Given the description of an element on the screen output the (x, y) to click on. 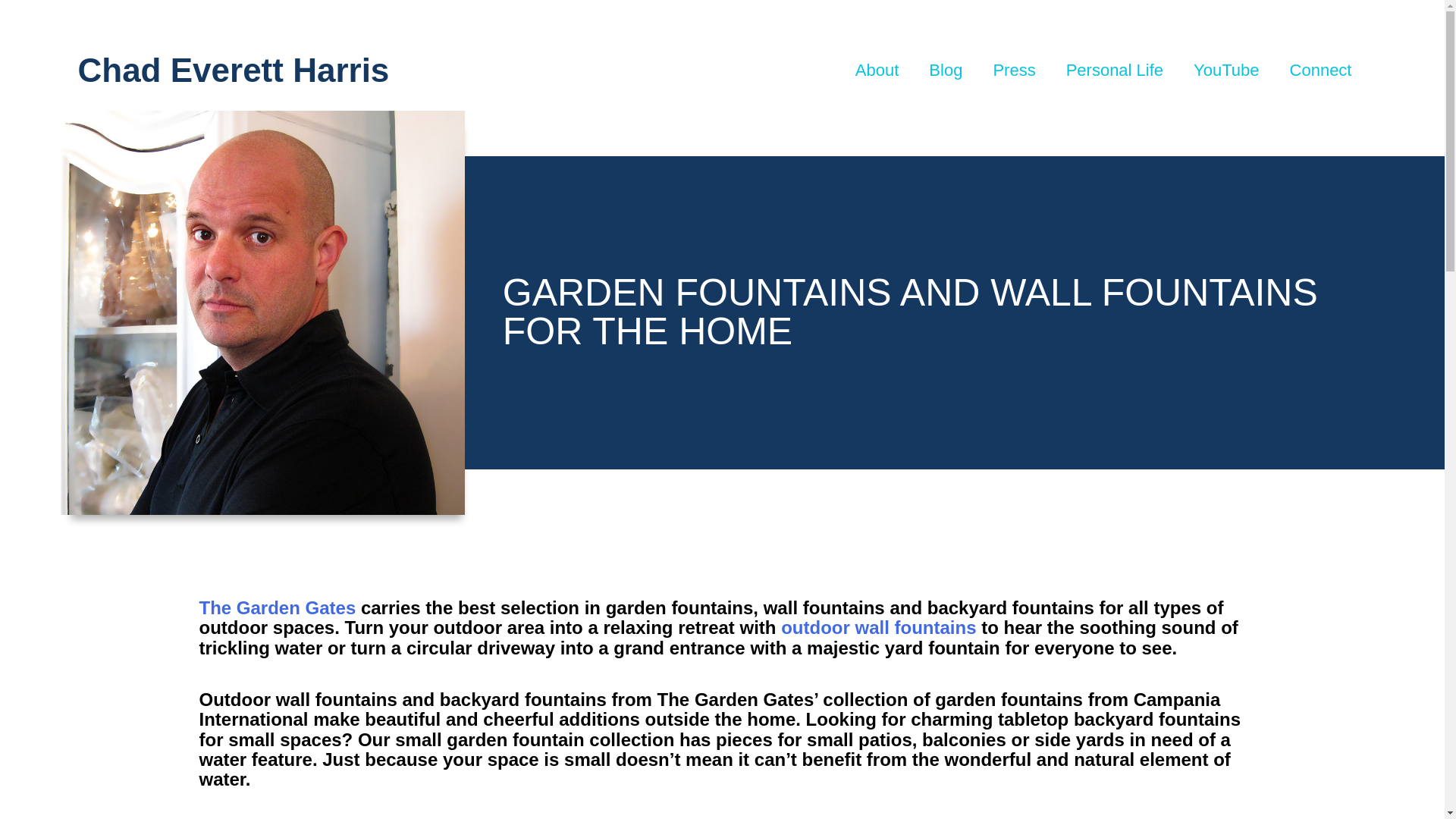
Chad Everett Harris (232, 69)
outdoor wall fountains (877, 627)
YouTube (1225, 70)
Press (1012, 70)
Personal Life (1114, 70)
Connect (1321, 70)
About (877, 70)
The Garden Gates (276, 607)
Blog (945, 70)
